Given the description of an element on the screen output the (x, y) to click on. 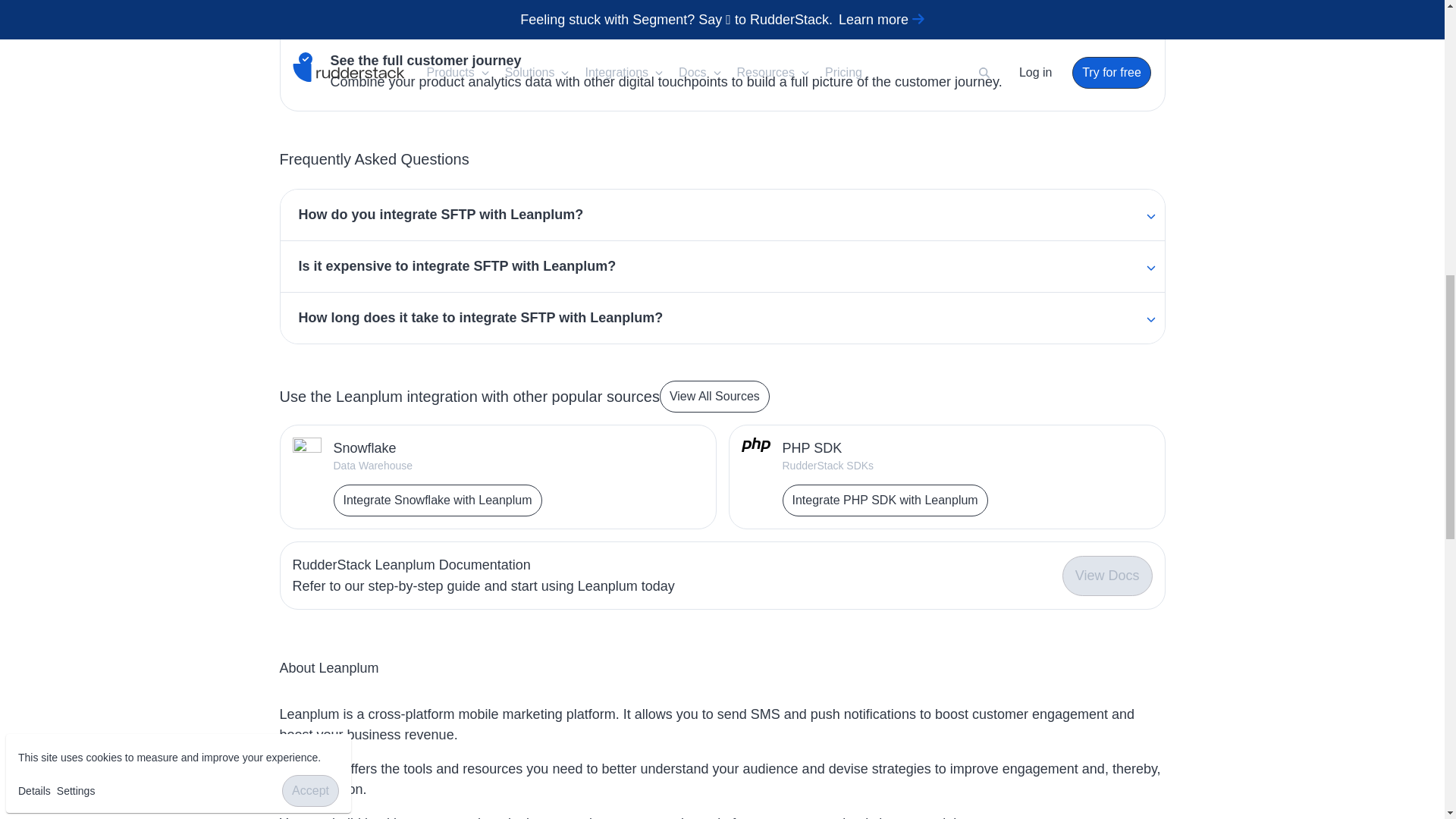
Integrate PHP SDK with Leanplum (885, 500)
View Docs (1107, 576)
View All Sources (714, 396)
Integrate Snowflake with Leanplum (437, 500)
PHP SDK (885, 447)
Snowflake (437, 447)
